Given the description of an element on the screen output the (x, y) to click on. 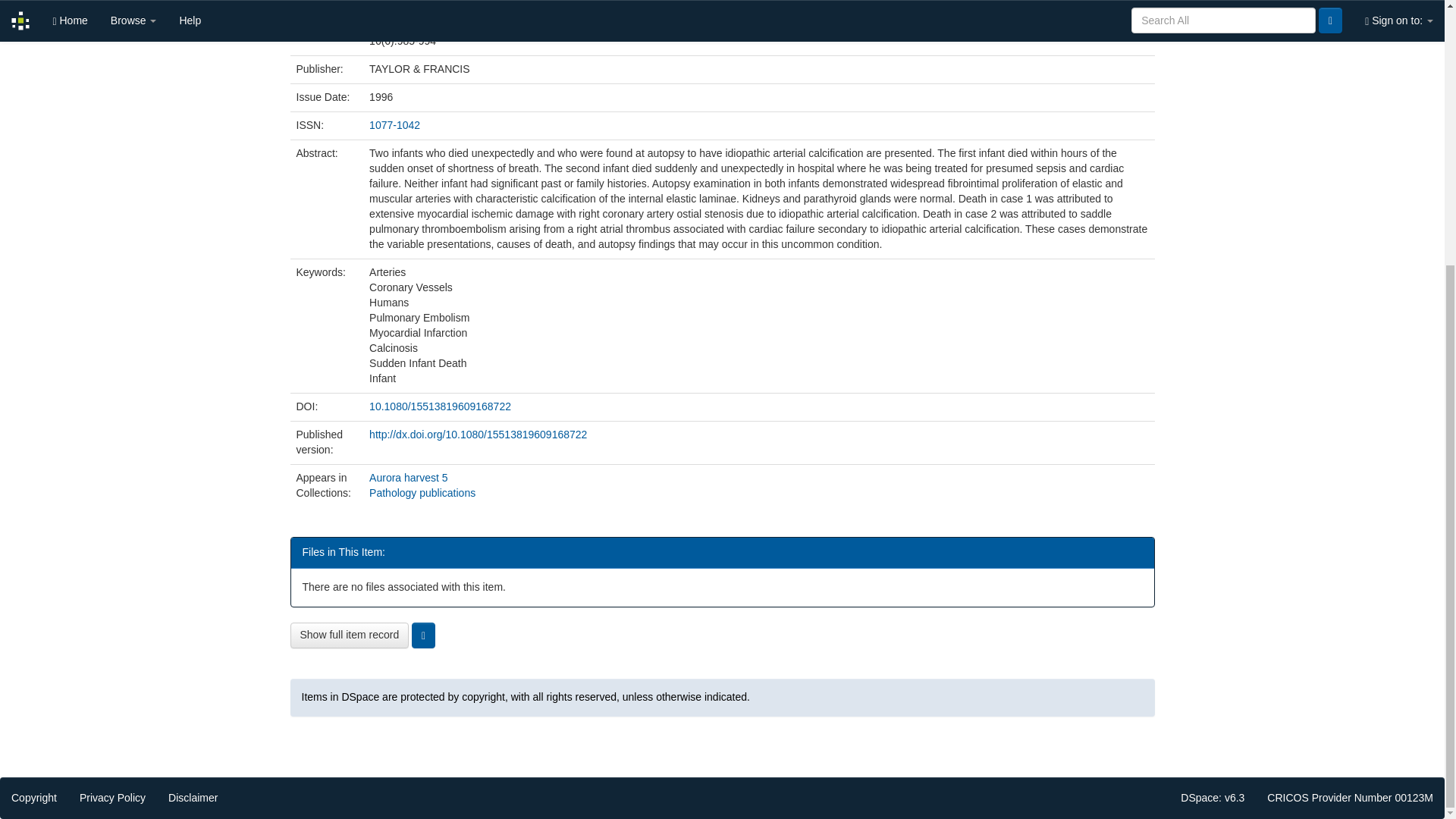
Aurora harvest 5 (408, 477)
Pathology publications (422, 491)
Show full item record (349, 635)
View Statistics (423, 635)
1077-1042 (394, 124)
Byard, R. (391, 2)
